Given the description of an element on the screen output the (x, y) to click on. 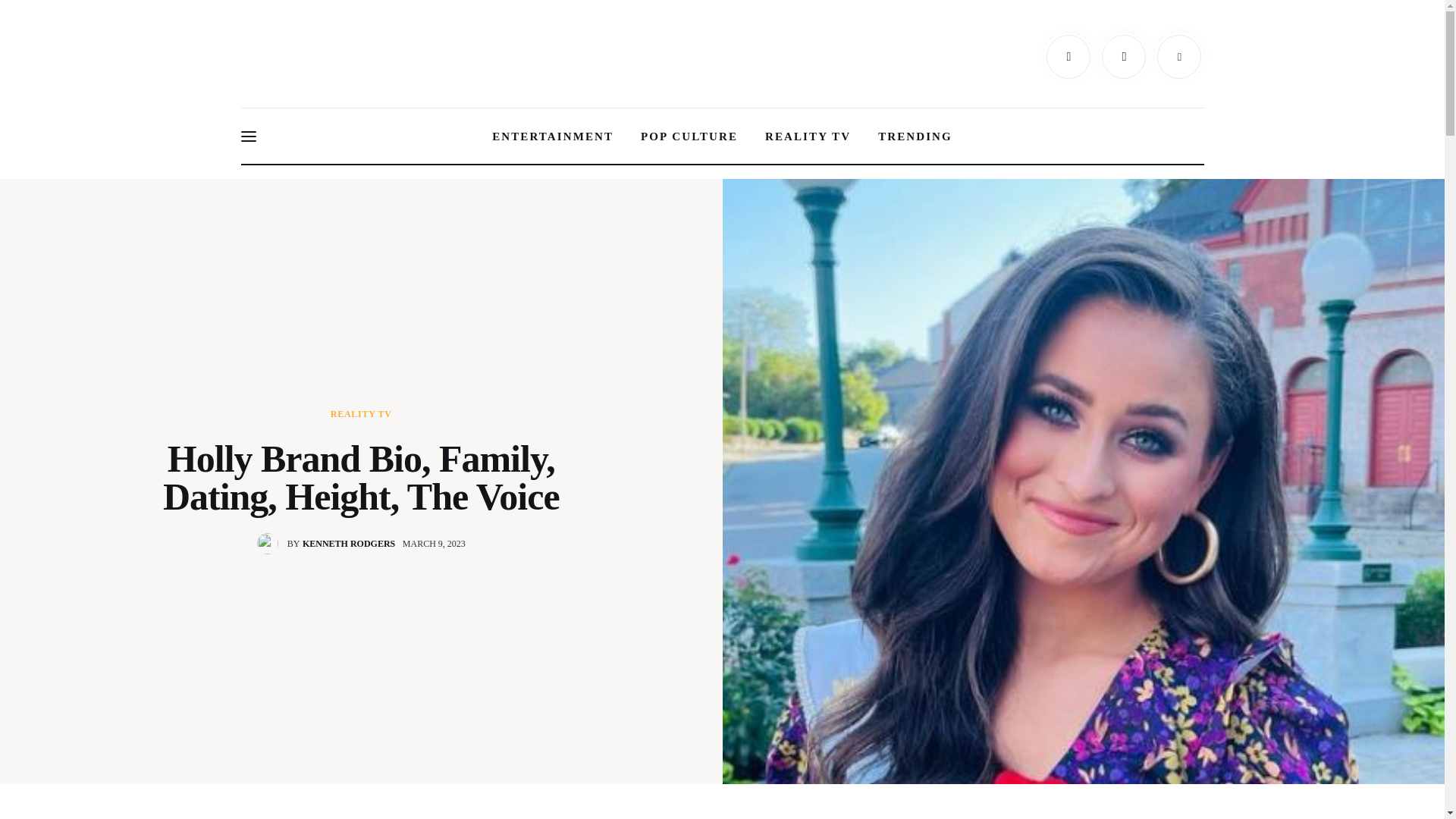
REALITY TV (807, 137)
TRENDING (915, 137)
POP CULTURE (689, 137)
REALITY TV (360, 413)
ENTERTAINMENT (330, 543)
